Given the description of an element on the screen output the (x, y) to click on. 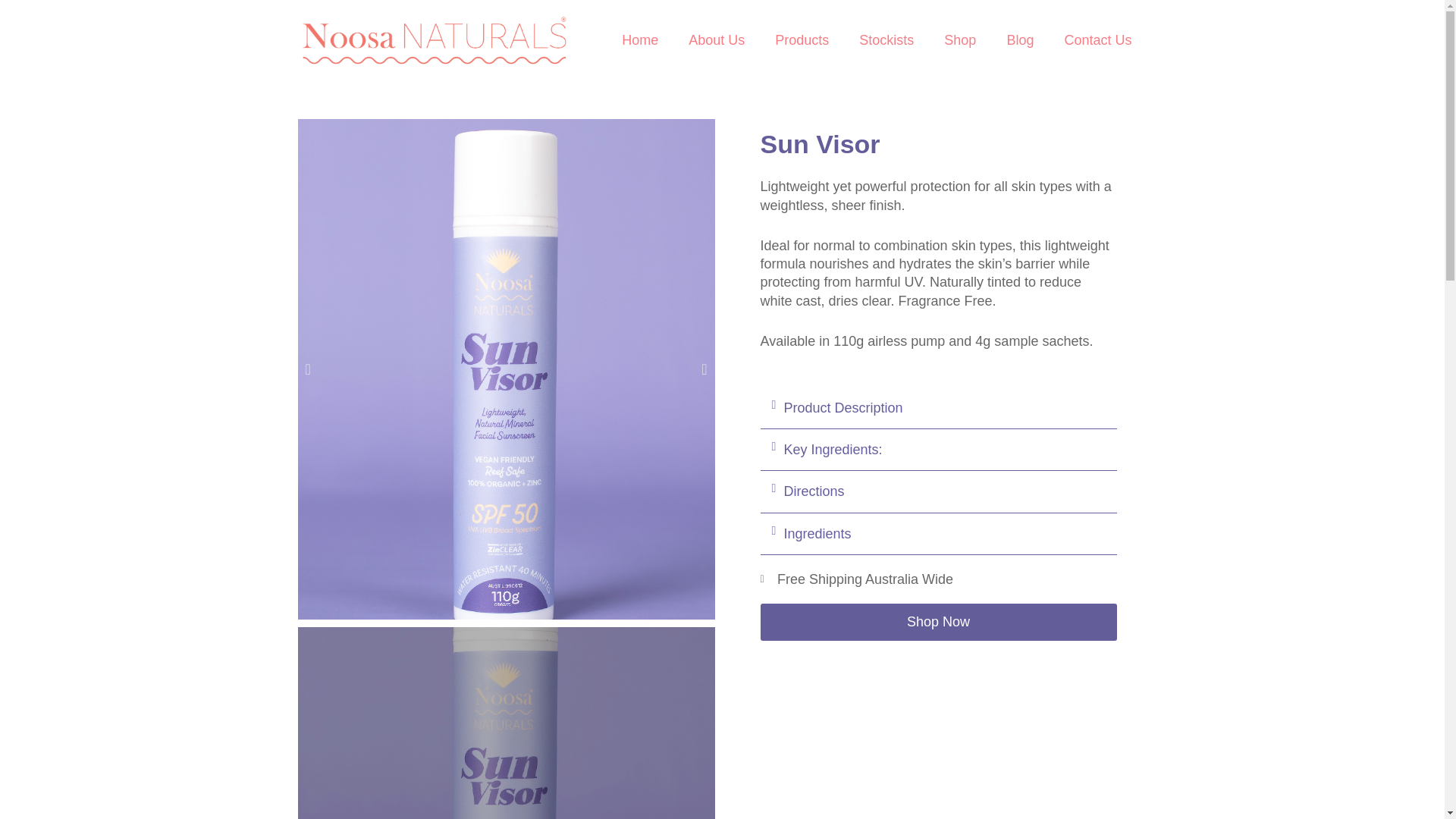
Directions (814, 491)
Blog (1019, 39)
Ingredients (817, 533)
Shop Now (938, 621)
Product Description (843, 407)
Stockists (886, 39)
Key Ingredients: (833, 449)
Contact Us (1097, 39)
Home (639, 39)
Products (802, 39)
